Given the description of an element on the screen output the (x, y) to click on. 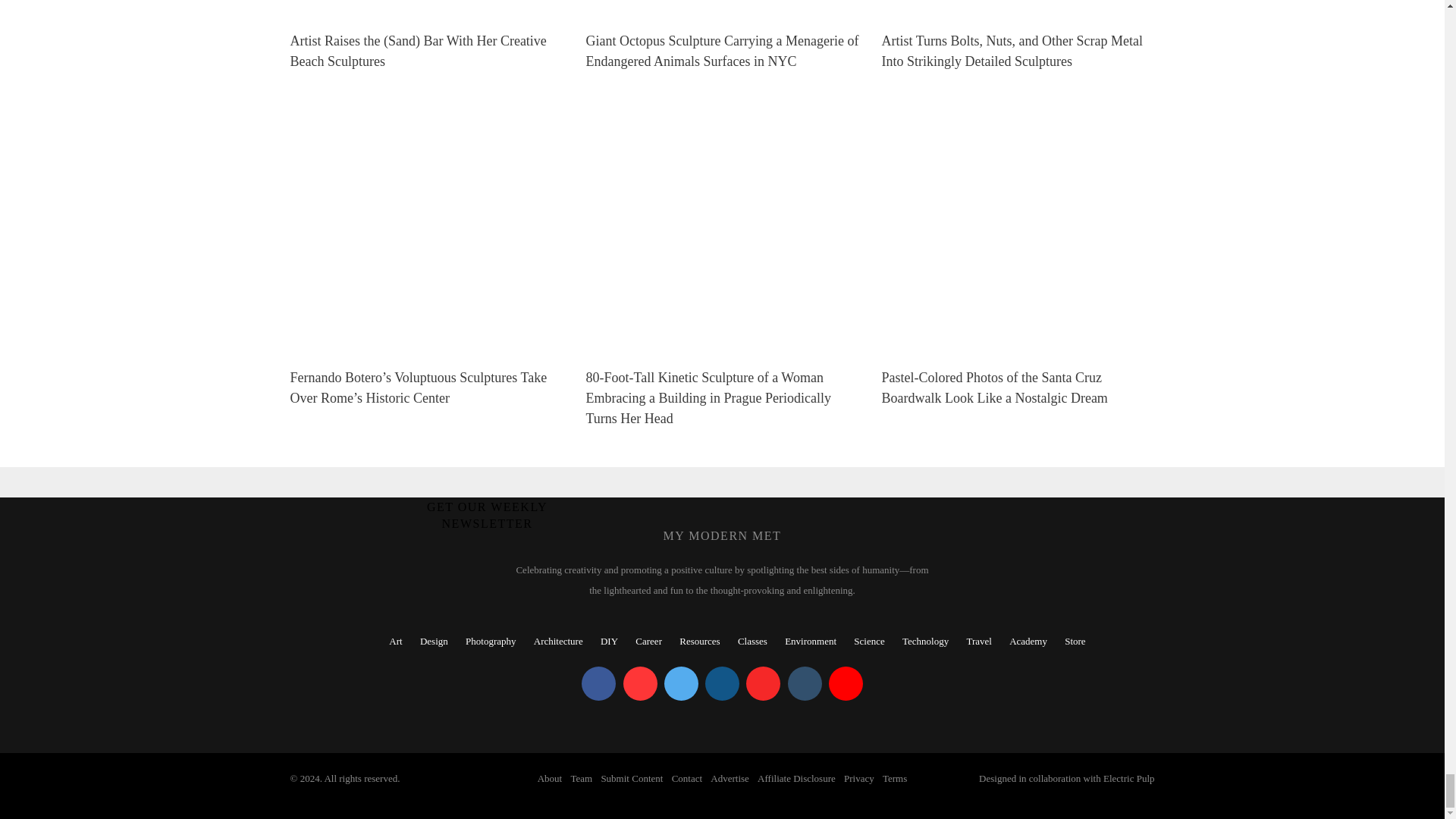
My Modern Met on Facebook (597, 683)
My Modern Met on YouTube (845, 683)
My Modern Met on Instagram (721, 683)
My Modern Met on Twitter (680, 683)
My Modern Met on Tumblr (804, 683)
My Modern Met on Pinterest (640, 683)
